Given the description of an element on the screen output the (x, y) to click on. 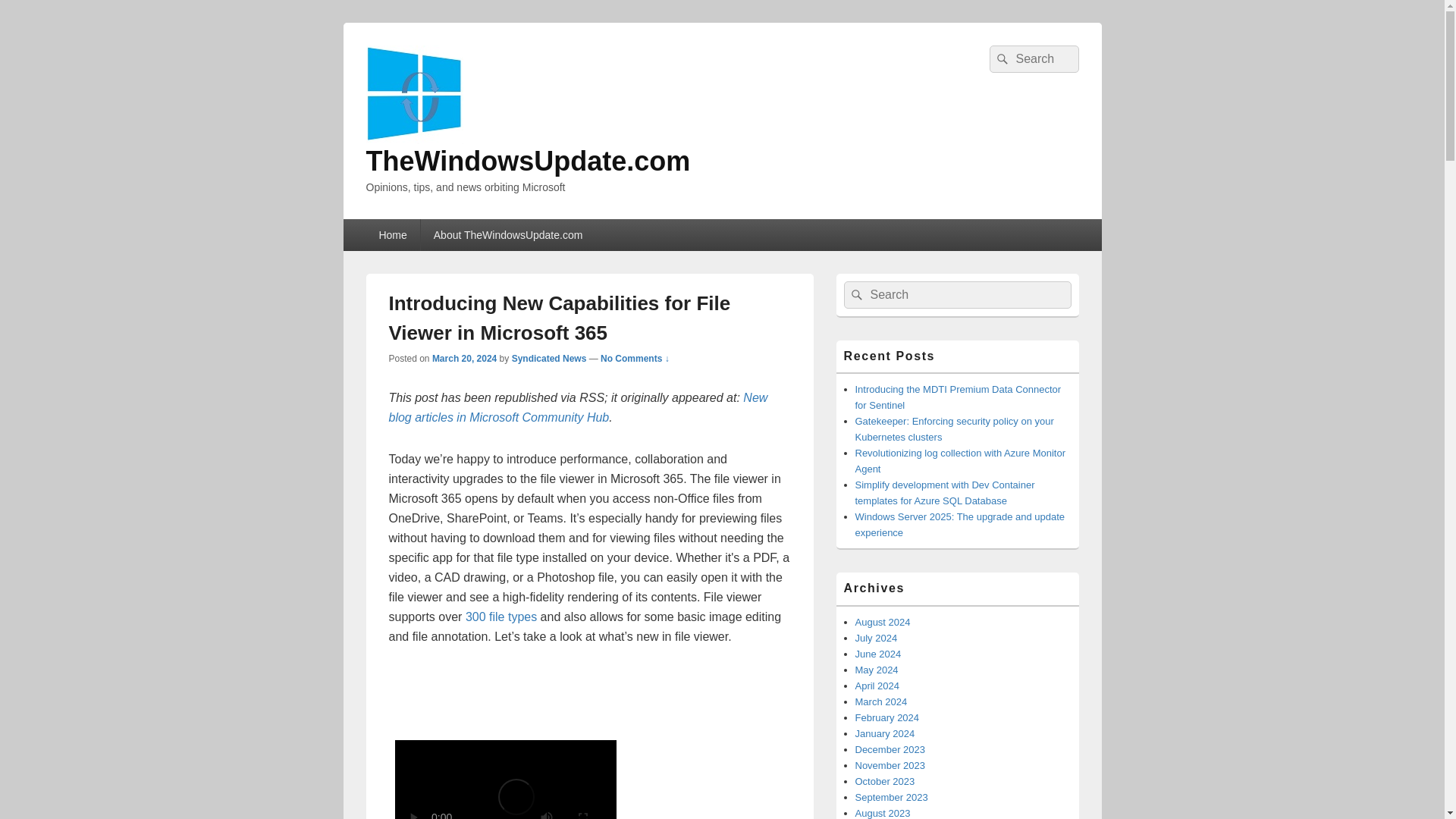
View all posts by Syndicated News (549, 357)
July 2024 (877, 637)
March 20, 2024 (464, 357)
May 2024 (877, 669)
File Viewer (501, 776)
300 file types (501, 616)
11:00 AM (464, 357)
June 2024 (878, 654)
Search for: (956, 294)
Revolutionizing log collection with Azure Monitor Agent (960, 461)
